Given the description of an element on the screen output the (x, y) to click on. 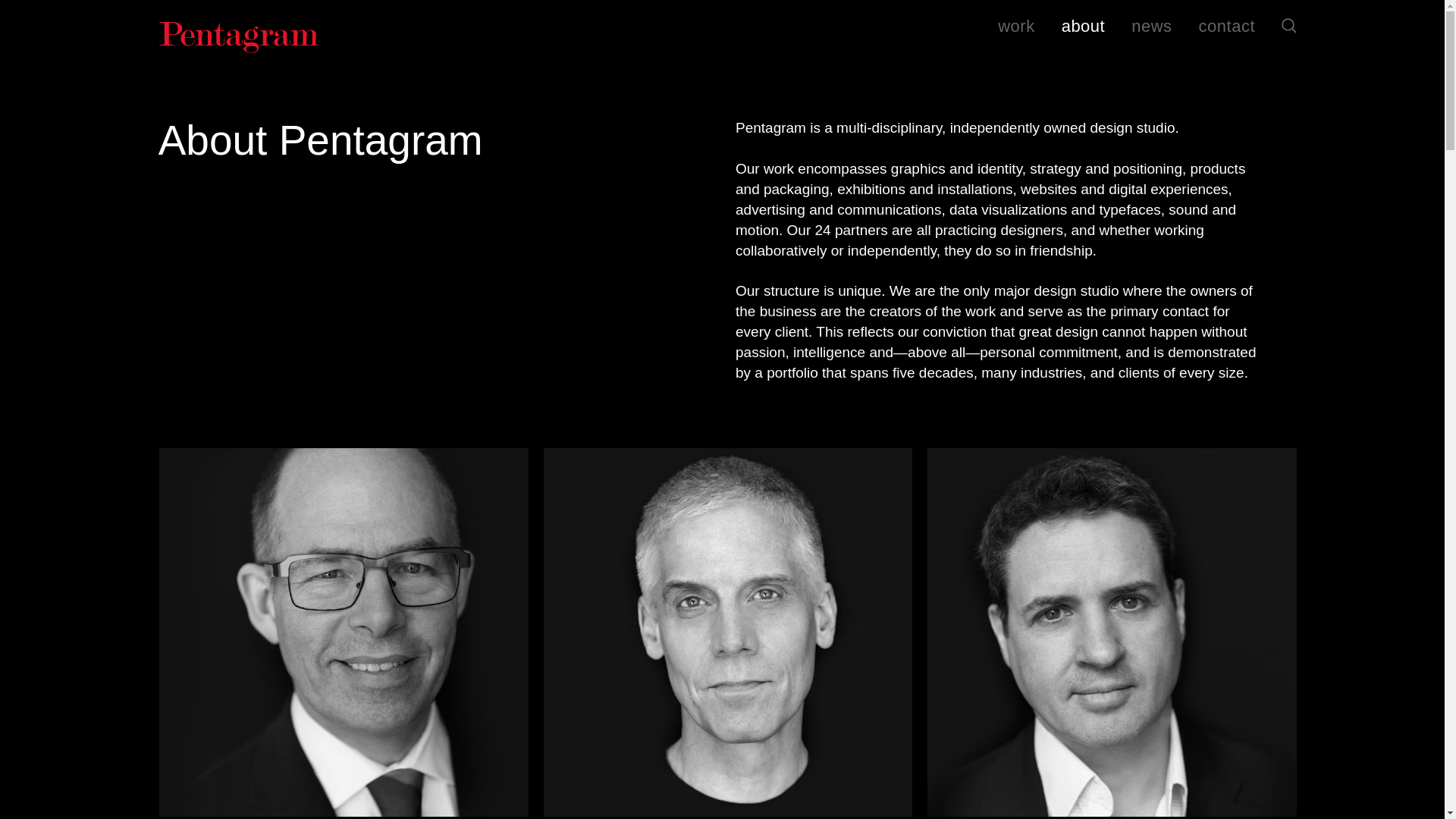
Search (1289, 25)
contact (1226, 26)
